Given the description of an element on the screen output the (x, y) to click on. 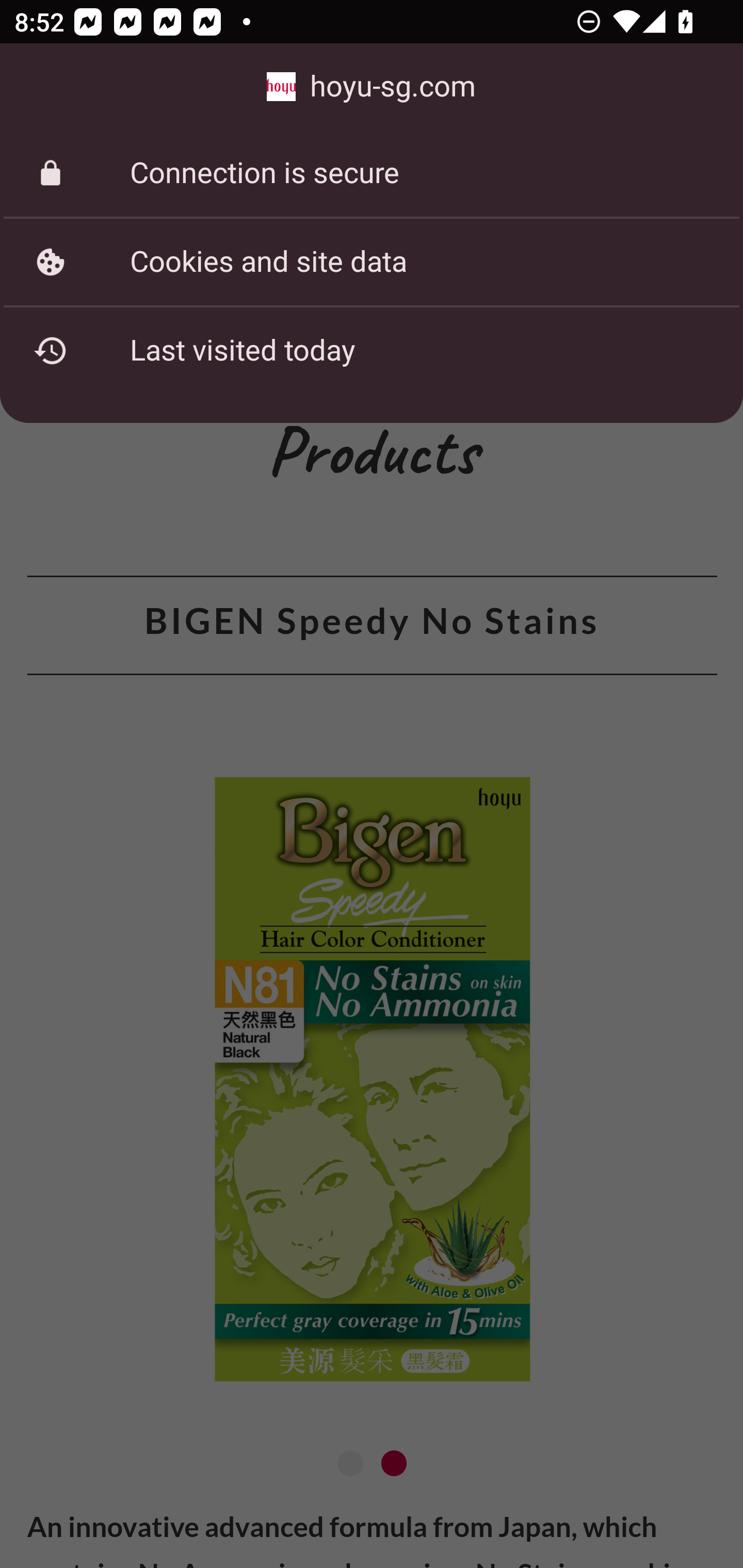
hoyu-sg.com (371, 86)
Connection is secure (371, 173)
Cookies and site data (371, 261)
Last visited today (371, 350)
